Given the description of an element on the screen output the (x, y) to click on. 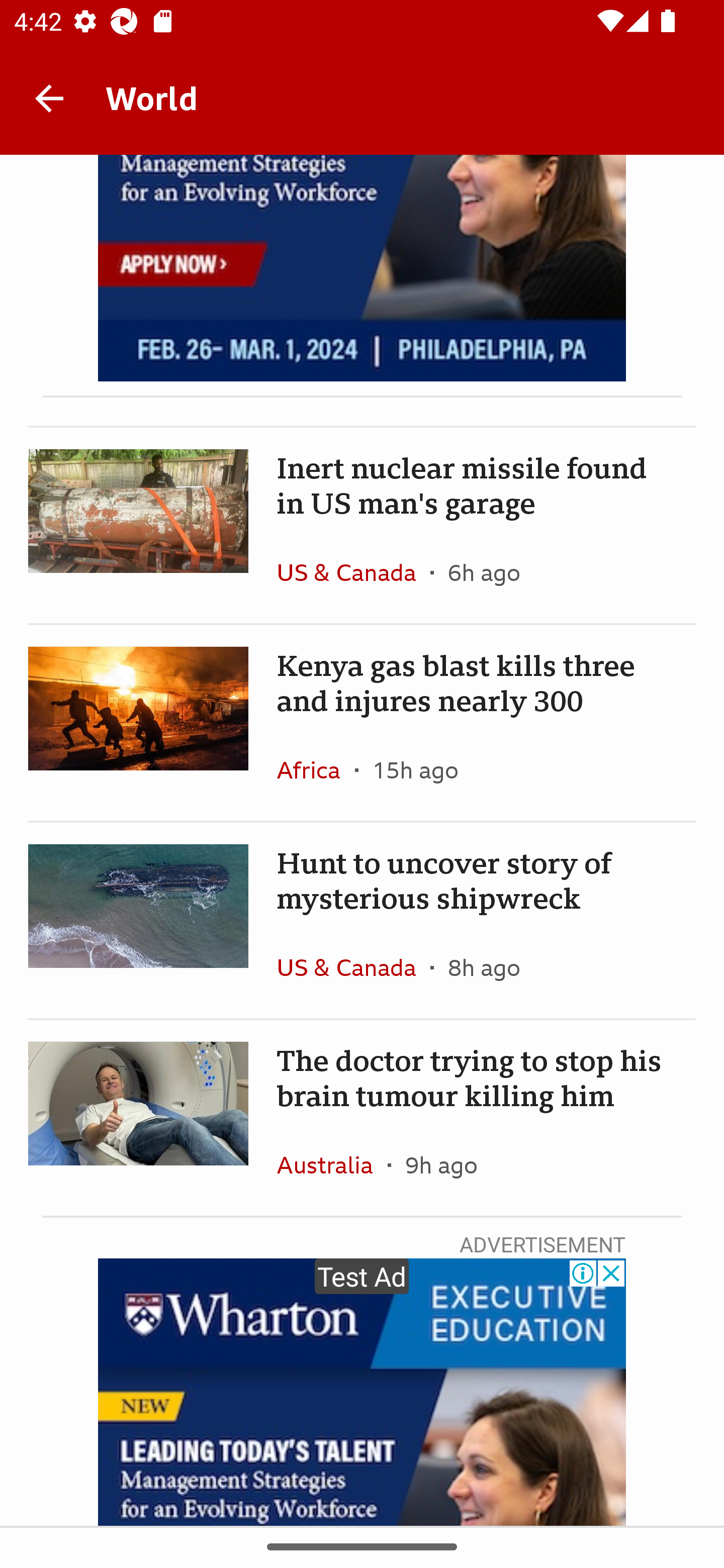
Back (49, 97)
Advertisement (361, 268)
US & Canada In the section US & Canada (353, 572)
Africa In the section Africa (315, 769)
US & Canada In the section US & Canada (353, 967)
Australia In the section Australia (331, 1164)
Advertisement (361, 1392)
